Given the description of an element on the screen output the (x, y) to click on. 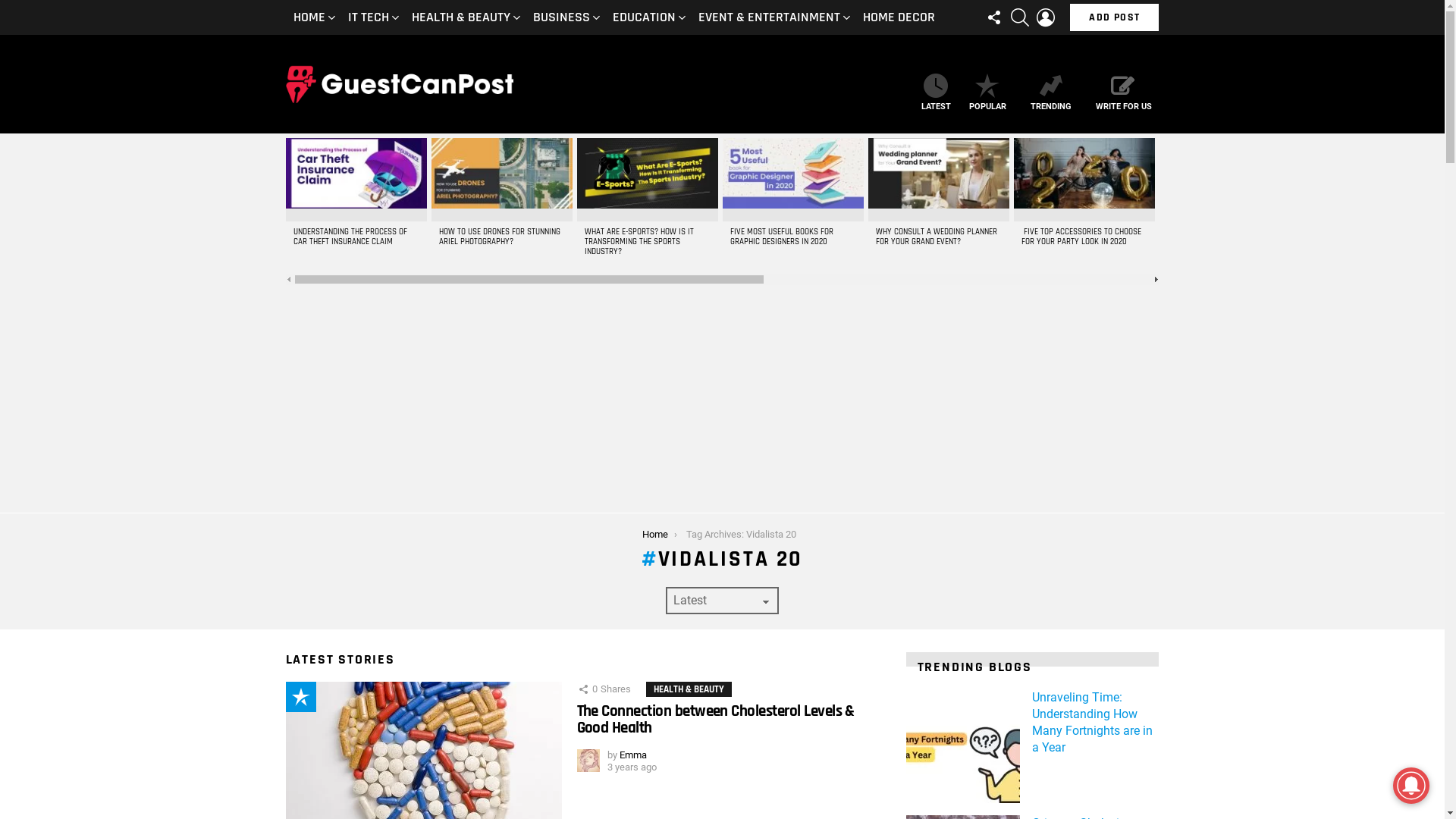
Understanding the Process of Car Theft Insurance Claim Element type: hover (355, 179)
Five most useful books for graphic designers in 2020 Element type: hover (791, 179)
TRENDING Element type: text (1050, 92)
 FIVE TOP ACCESSORIES TO CHOOSE FOR YOUR PARTY LOOK IN 2020 Element type: text (1080, 236)
Home Element type: text (655, 533)
LOGIN Element type: text (1045, 17)
How to Use Drones for Stunning Ariel Photography? Element type: hover (500, 179)
UNDERSTANDING THE PROCESS OF CAR THEFT INSURANCE CLAIM Element type: text (349, 236)
BUSINESS Element type: text (562, 17)
EDUCATION Element type: text (646, 17)
WHY CONSULT A WEDDING PLANNER FOR YOUR GRAND EVENT? Element type: text (935, 236)
HEALTH & BEAUTY Element type: text (688, 688)
LATEST Element type: text (935, 92)
5 LUCRATIVE CAREERS TO CHOOSE IN IT TECH INDUSTRIES FOR 2020 Element type: text (1227, 236)
HOW TO USE DRONES FOR STUNNING ARIEL PHOTOGRAPHY? Element type: text (498, 236)
EVENT & ENTERTAINMENT Element type: text (770, 17)
Advertisement Element type: hover (721, 398)
WRITE FOR US Element type: text (1122, 93)
The Connection between Cholesterol Levels & Good Health Element type: text (714, 718)
ADD POST Element type: text (1114, 17)
HOME DECOR Element type: text (898, 17)
IT TECH Element type: text (369, 17)
FIVE MOST USEFUL BOOKS FOR GRAPHIC DESIGNERS IN 2020 Element type: text (780, 236)
FOLLOW US Element type: text (994, 17)
HOME Element type: text (310, 17)
HEALTH & BEAUTY Element type: text (462, 17)
Popular Element type: text (300, 696)
SEARCH Element type: text (1019, 17)
Why Consult a Wedding planner for Your Grand Event? Element type: hover (937, 179)
POPULAR Element type: text (987, 92)
Emma Element type: text (632, 754)
